Given the description of an element on the screen output the (x, y) to click on. 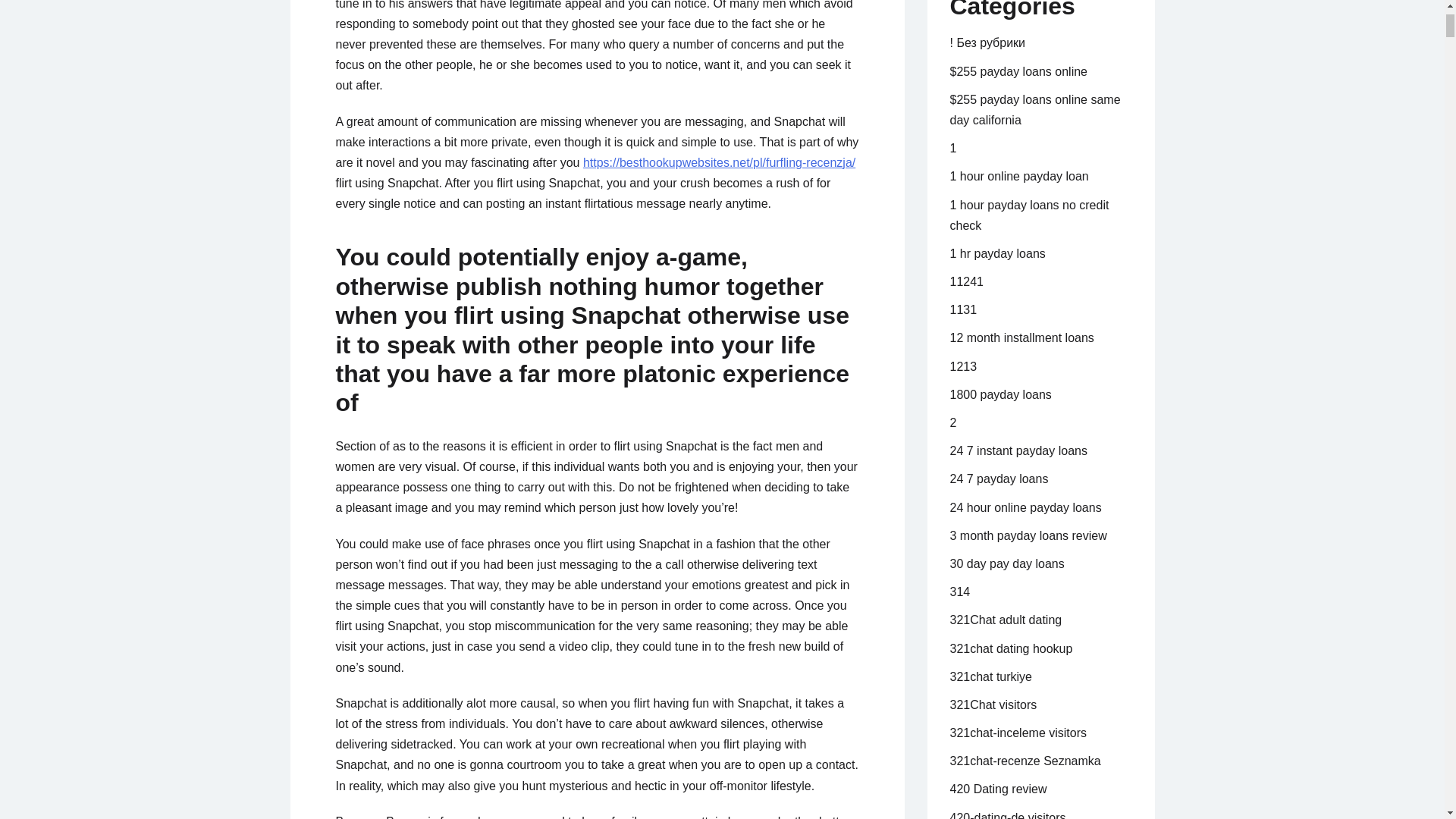
1131 (962, 309)
1 hour online payday loan (1018, 175)
1 hour payday loans no credit check (1028, 215)
1213 (962, 366)
12 month installment loans (1021, 337)
11241 (966, 281)
1 hr payday loans (997, 253)
1800 payday loans (1000, 394)
1 (952, 147)
24 7 instant payday loans (1017, 450)
2 (952, 422)
